Given the description of an element on the screen output the (x, y) to click on. 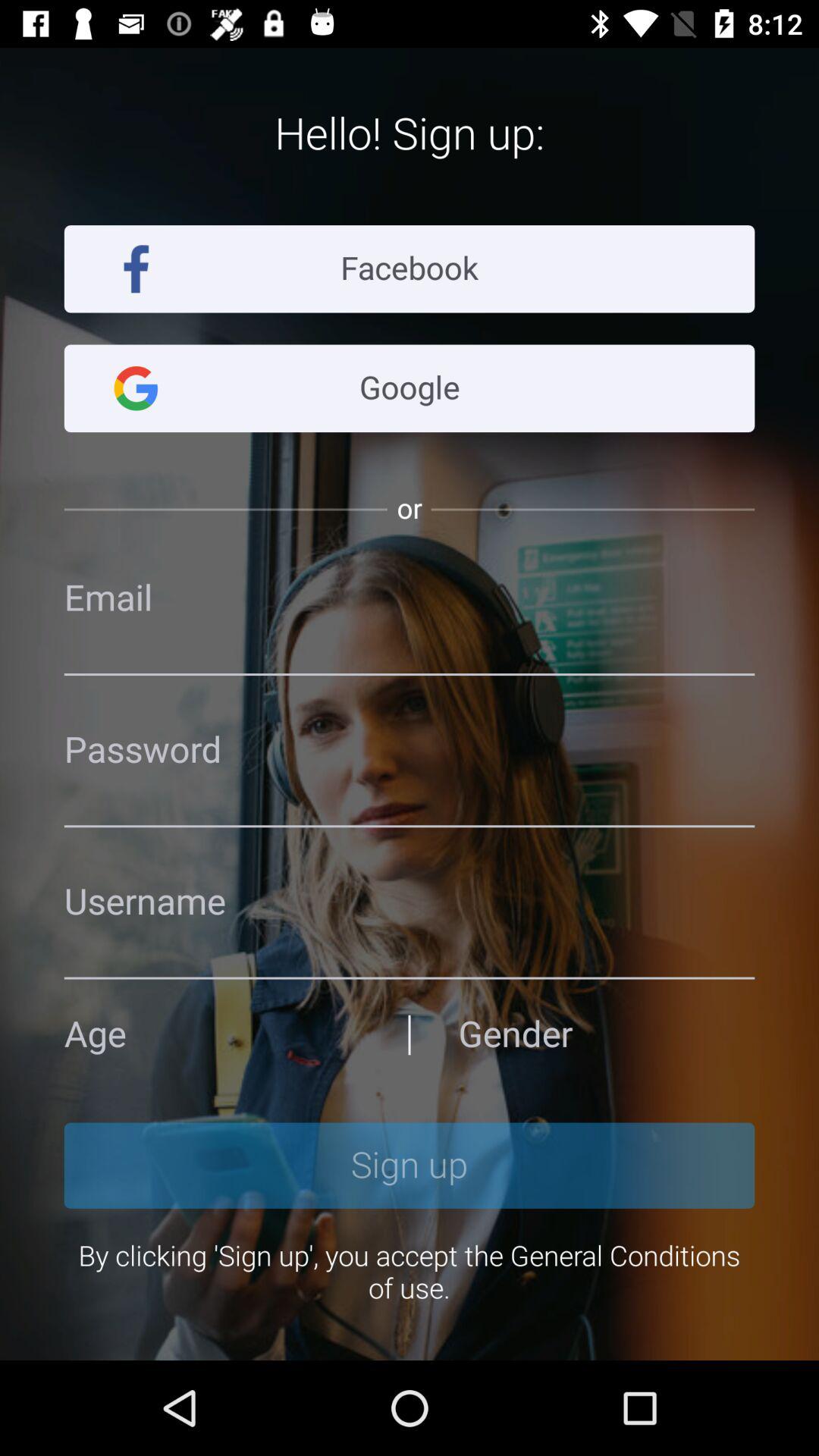
screen page (409, 750)
